Given the description of an element on the screen output the (x, y) to click on. 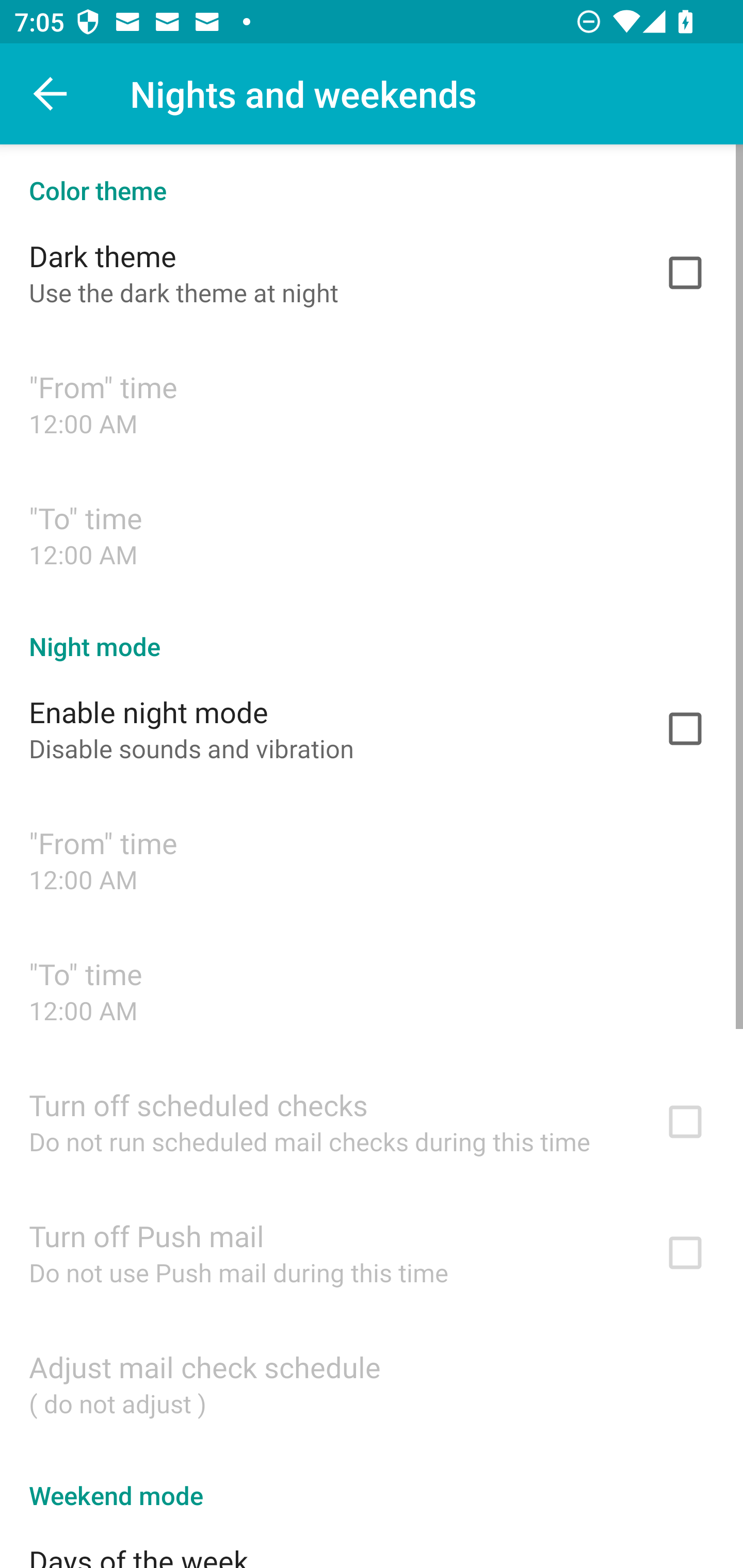
Navigate up (50, 93)
Dark theme Use the dark theme at night (371, 272)
"From" time 12:00 AM (371, 403)
"To" time 12:00 AM (371, 534)
Enable night mode Disable sounds and vibration (371, 728)
"From" time 12:00 AM (371, 859)
"To" time 12:00 AM (371, 990)
Adjust mail check schedule ( do not adjust ) (371, 1383)
